Given the description of an element on the screen output the (x, y) to click on. 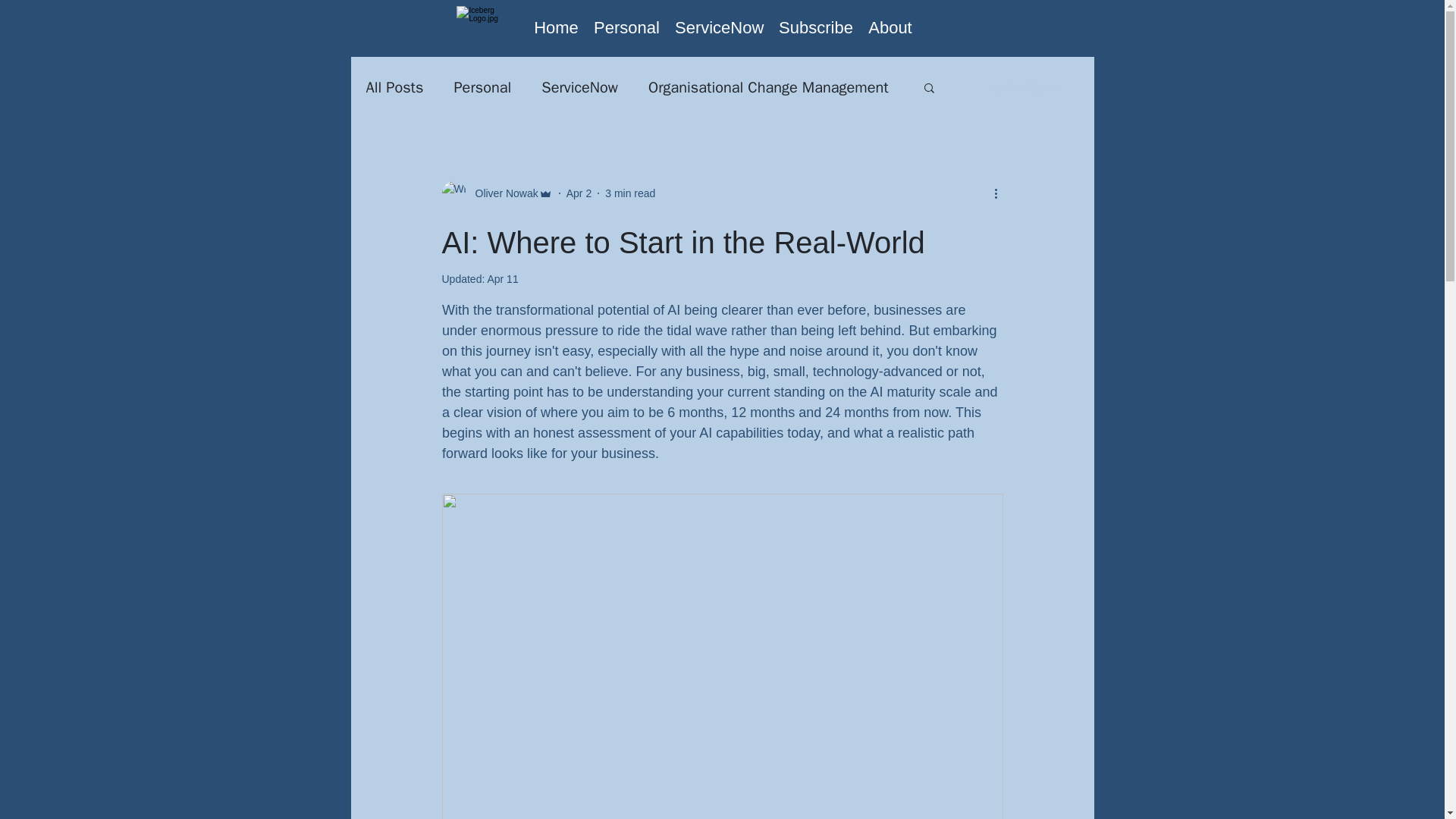
Oliver Nowak (501, 192)
ServiceNow (718, 27)
Home (555, 27)
Apr 2 (578, 192)
All Posts (394, 86)
Subscribe (815, 27)
Personal (481, 86)
Apr 11 (502, 278)
About (890, 27)
Personal (626, 27)
